Given the description of an element on the screen output the (x, y) to click on. 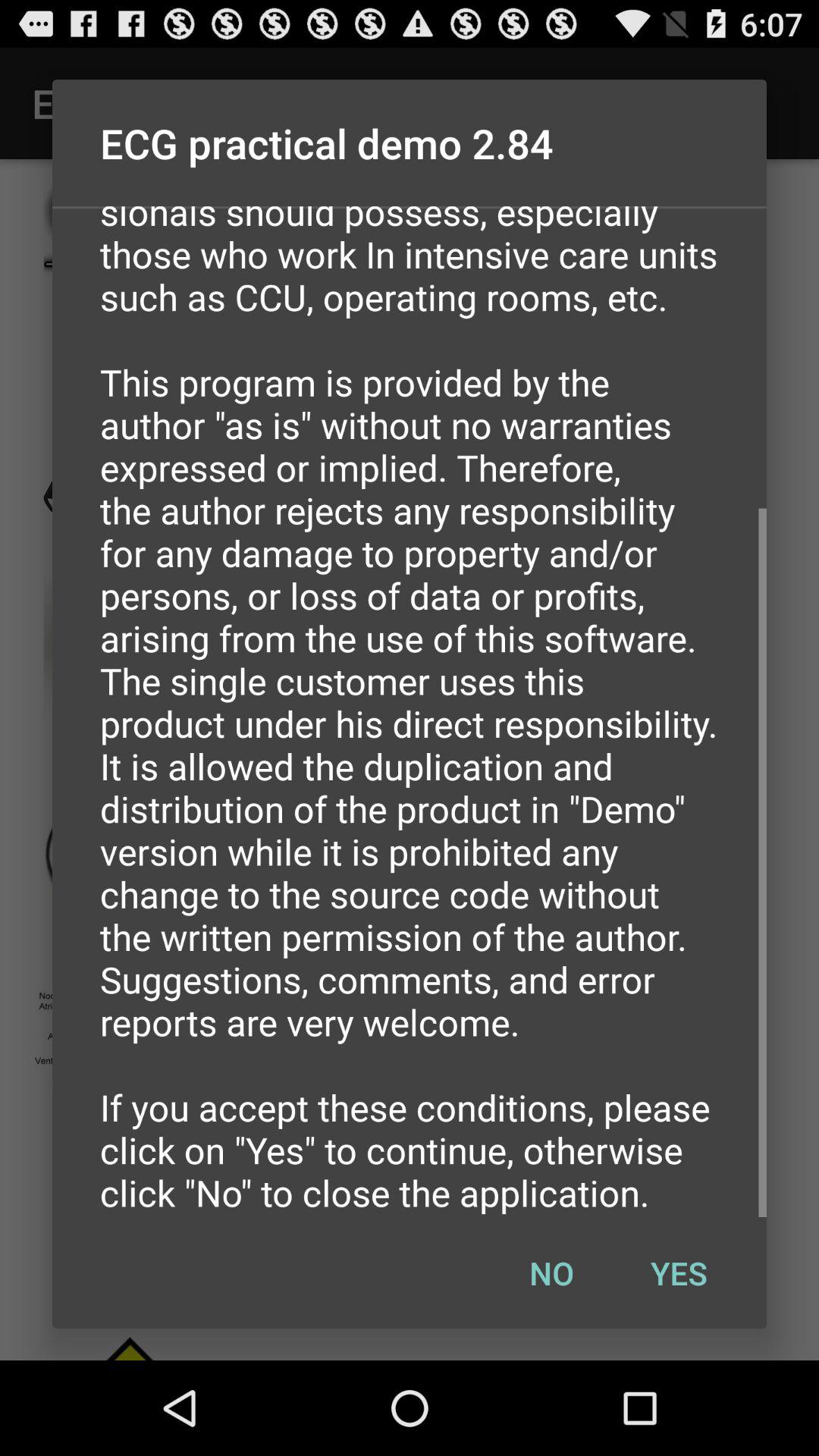
swipe until yes icon (678, 1272)
